Given the description of an element on the screen output the (x, y) to click on. 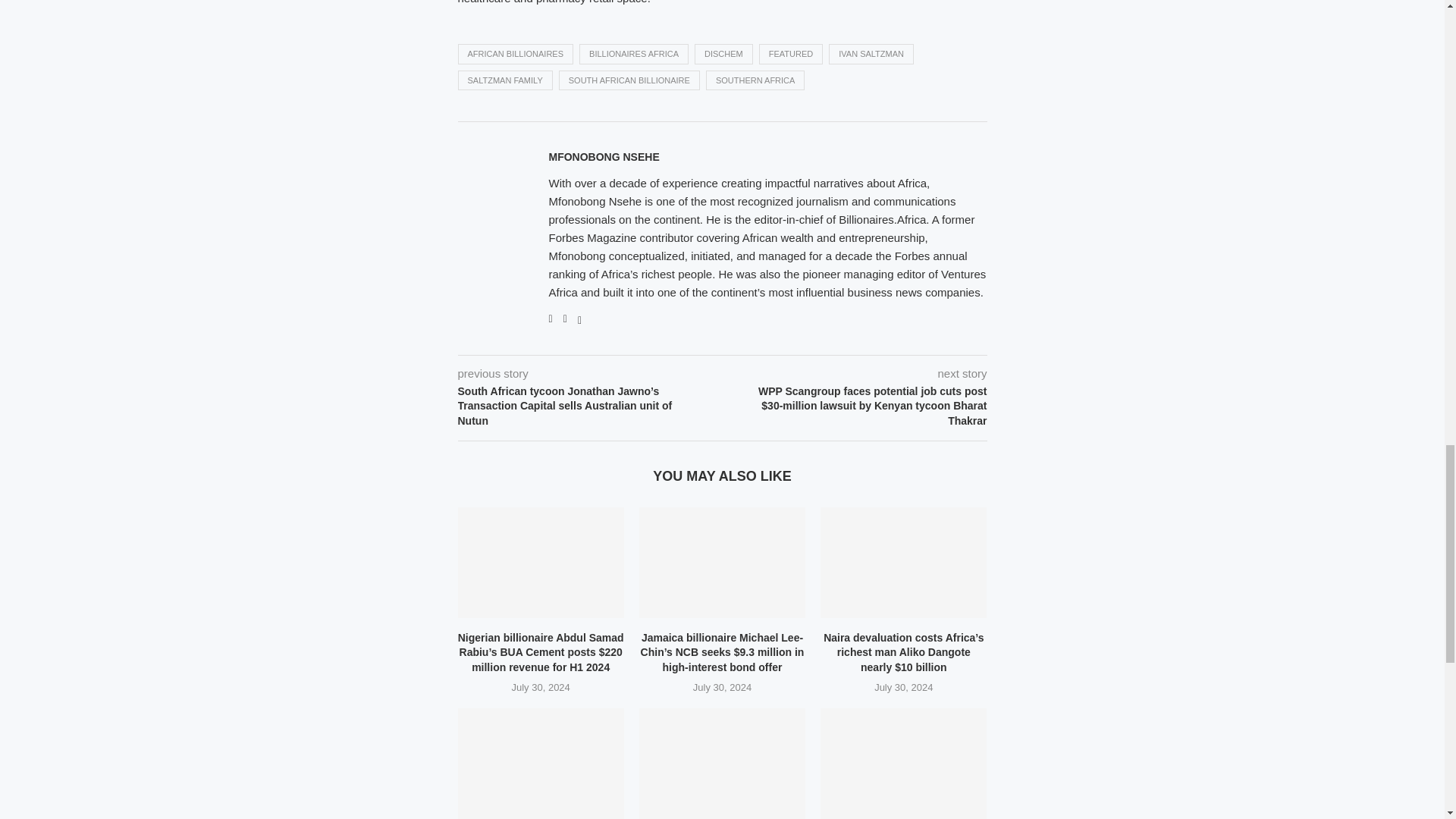
 Mfonobong Nsehe (603, 156)
